Given the description of an element on the screen output the (x, y) to click on. 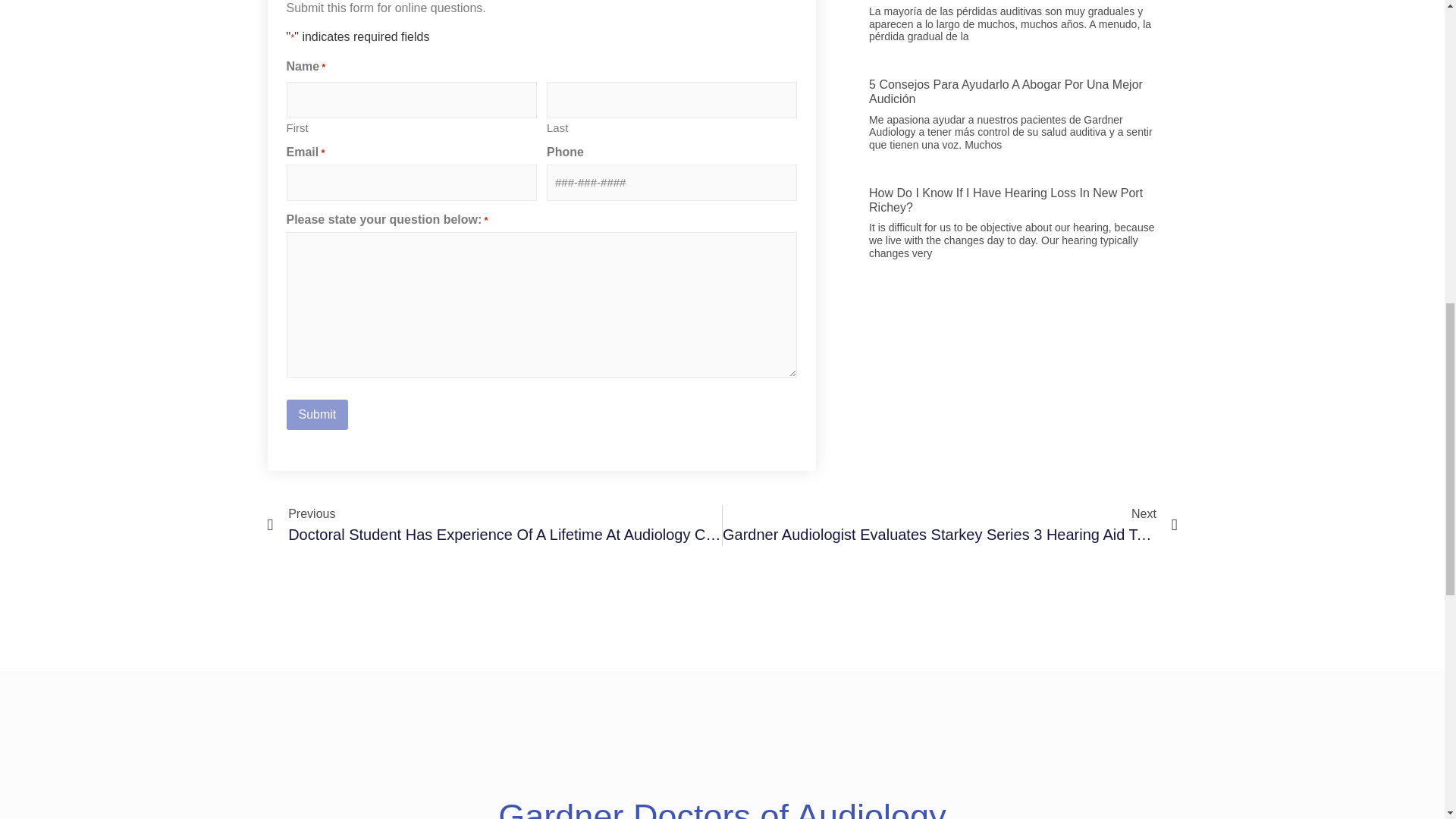
How Do I Know If I Have Hearing Loss In New Port Richey? (1005, 199)
Submit (317, 414)
Submit (317, 414)
